Given the description of an element on the screen output the (x, y) to click on. 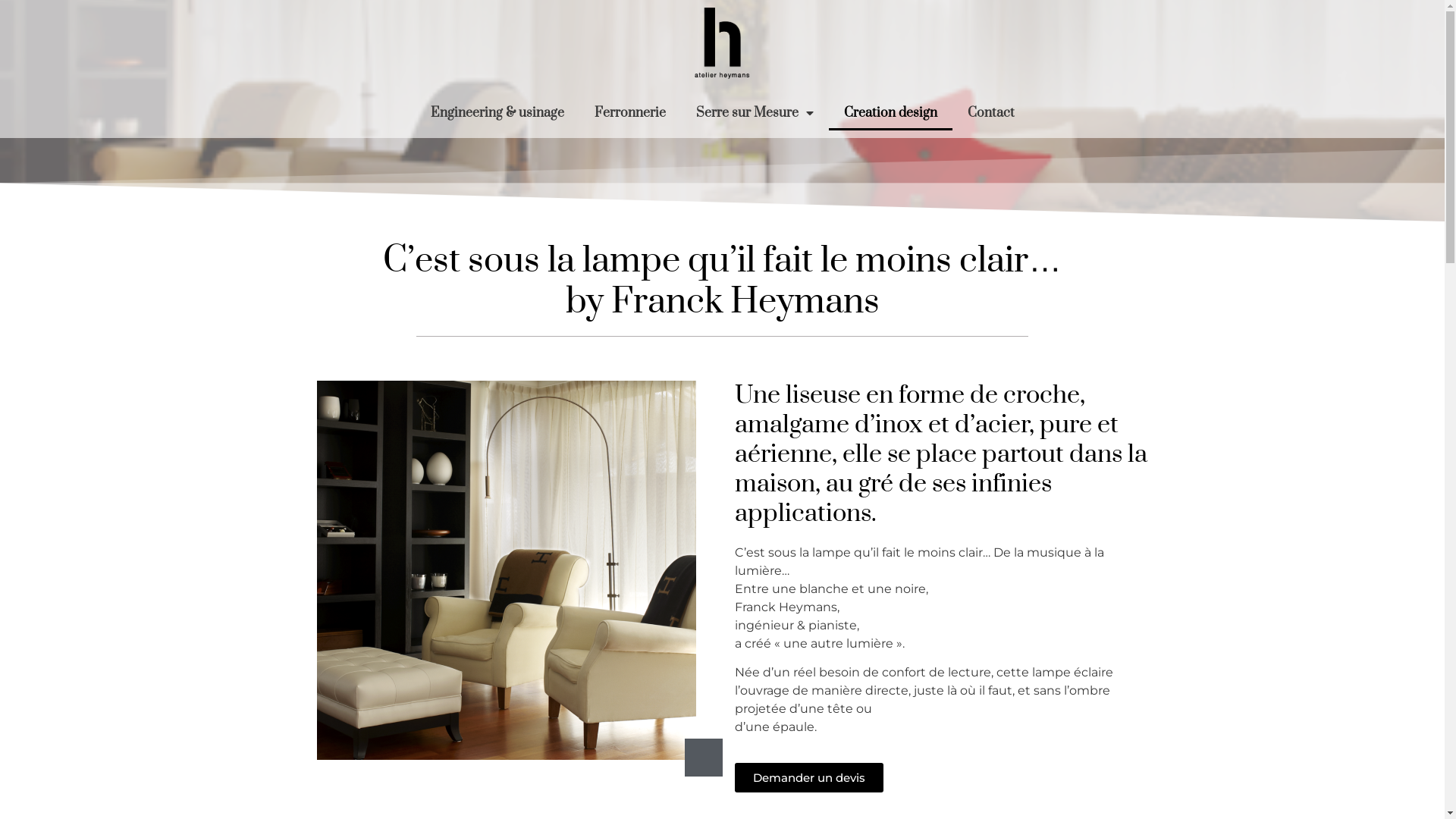
Engineering & usinage Element type: text (497, 112)
Demander un devis Element type: text (808, 777)
Ferronnerie Element type: text (629, 112)
Serre sur Mesure Element type: text (754, 112)
Contact Element type: text (990, 112)
Creation design Element type: text (889, 112)
